Given the description of an element on the screen output the (x, y) to click on. 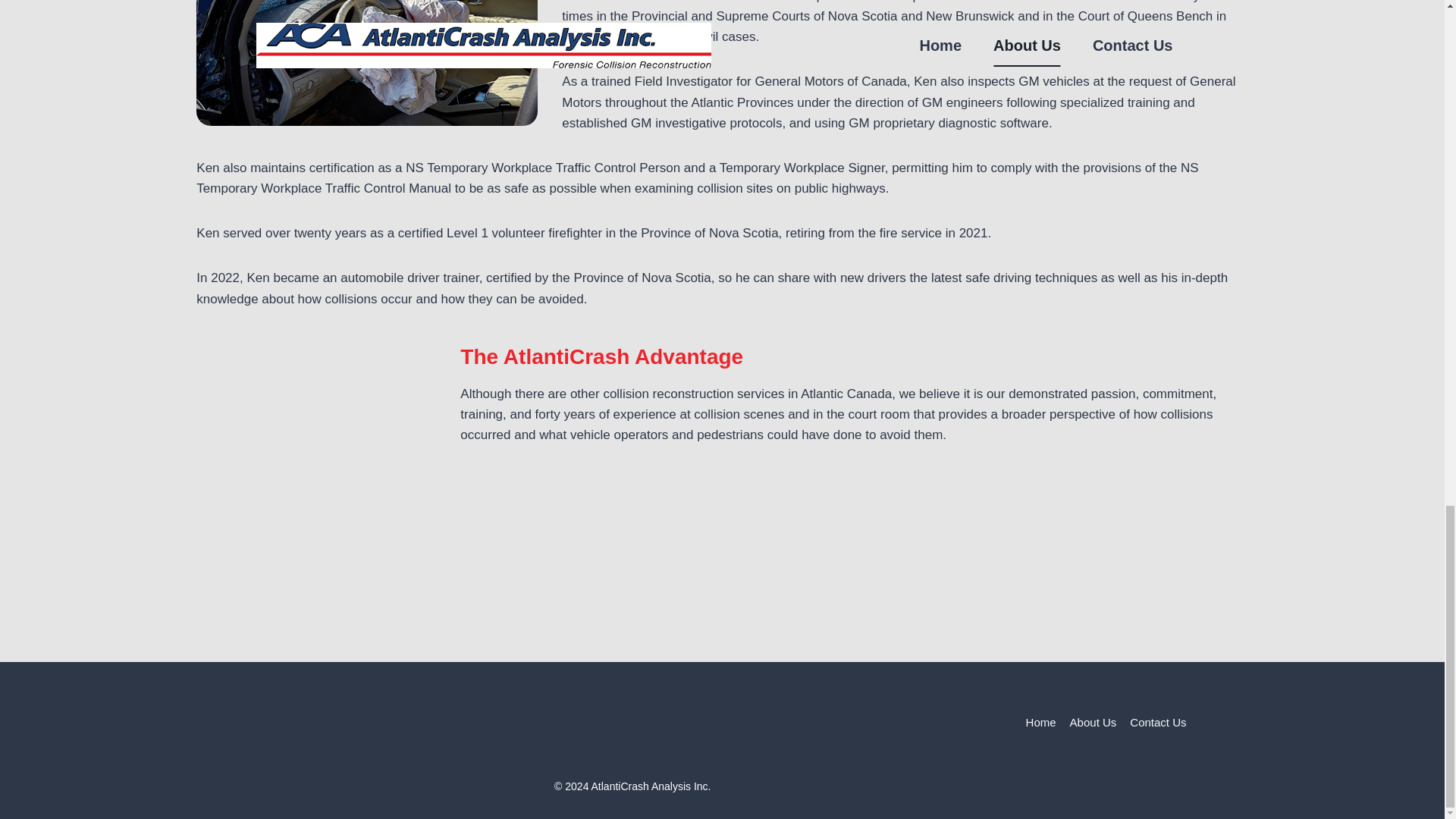
Contact Us (1157, 722)
Home (1040, 722)
About Us (1093, 722)
